Given the description of an element on the screen output the (x, y) to click on. 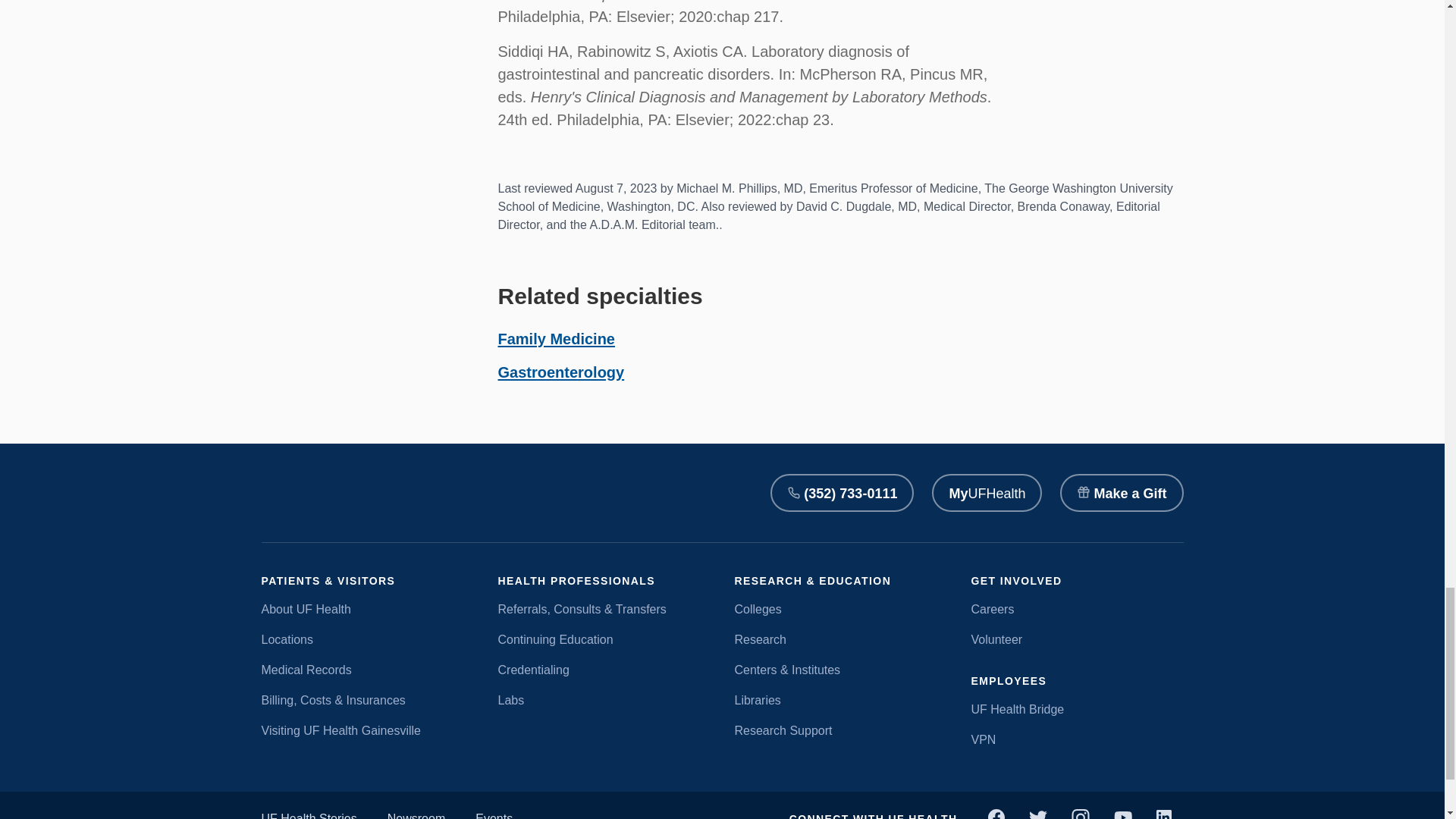
Medical Records (366, 669)
Colleges (839, 609)
Locations (366, 639)
University of Florida Health (310, 493)
About UF Health (366, 609)
Family Medicine (555, 338)
University of Florida (452, 493)
Research (839, 639)
MyUFHealth (986, 492)
Labs (603, 700)
Make a Gift (1120, 492)
Continuing Education (603, 639)
Credentialing (603, 669)
Visiting UF Health Gainesville (366, 730)
Gastroenterology (560, 371)
